Given the description of an element on the screen output the (x, y) to click on. 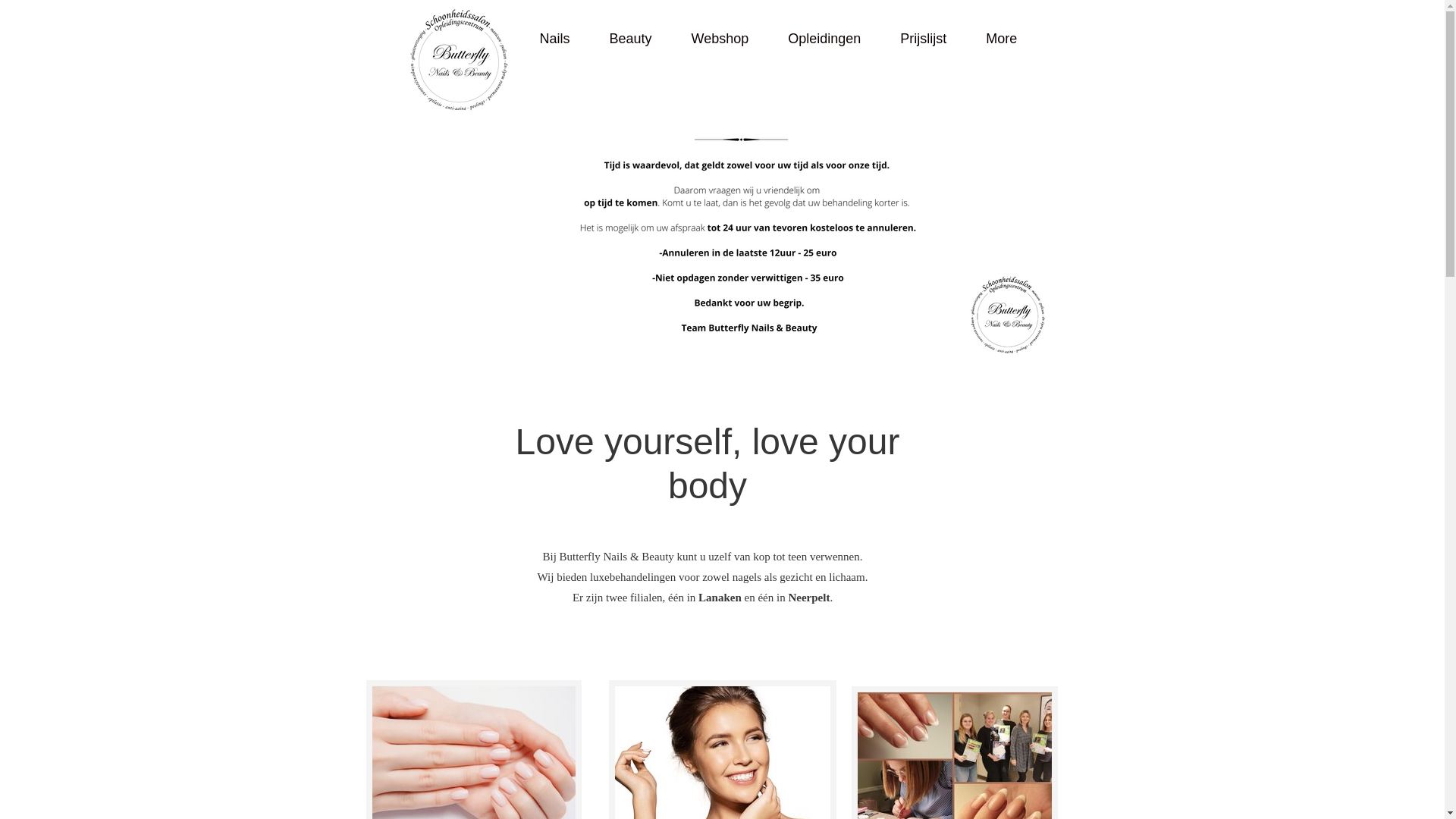
22 Element type: hover (741, 245)
Webshop Element type: text (719, 38)
Beauty Element type: text (630, 38)
More Element type: text (1001, 38)
Prijslijst Element type: text (923, 38)
Opleidingen Element type: text (824, 38)
Nails Element type: text (554, 38)
